Given the description of an element on the screen output the (x, y) to click on. 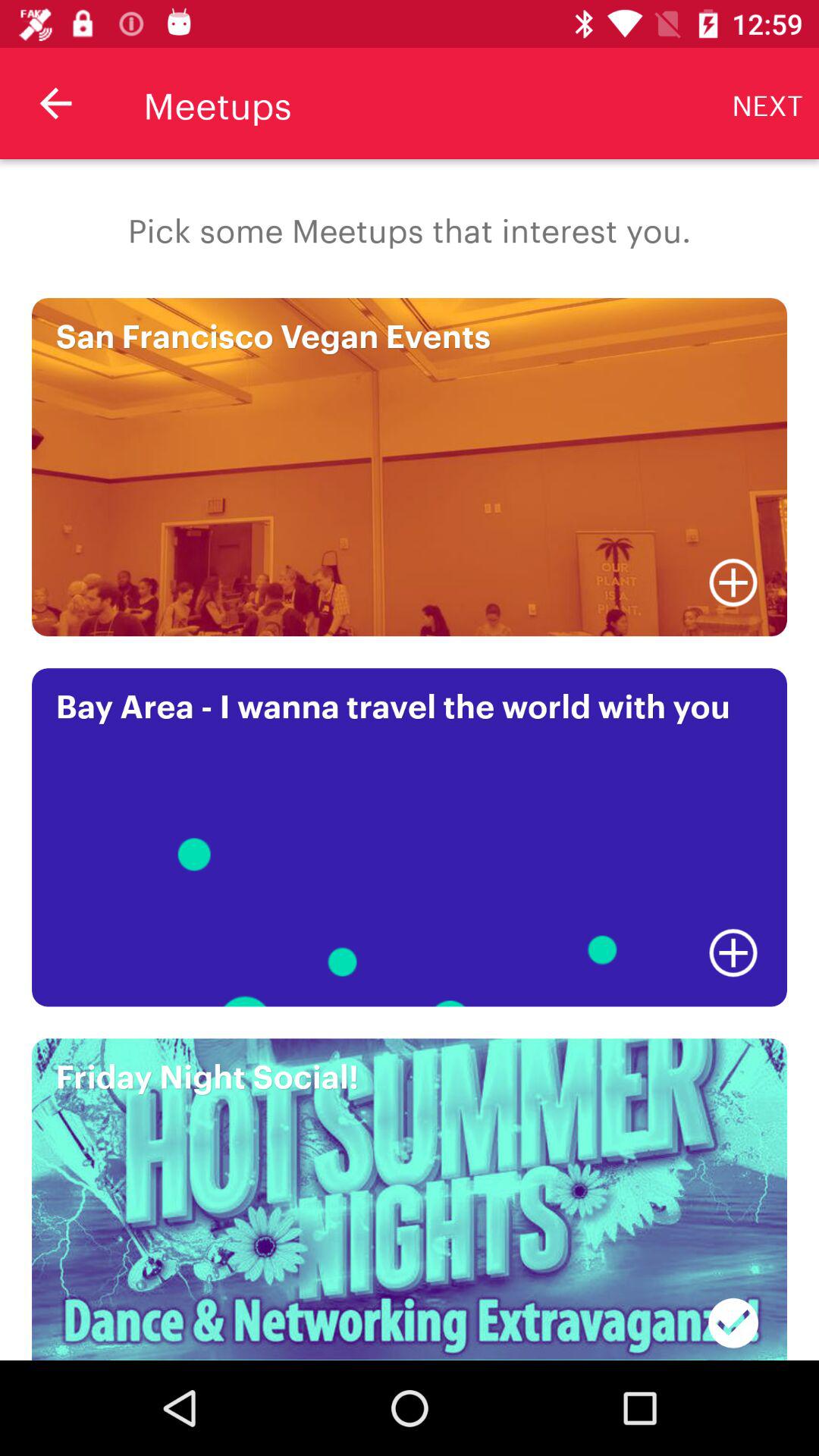
click the item at the bottom right corner (733, 1314)
